Given the description of an element on the screen output the (x, y) to click on. 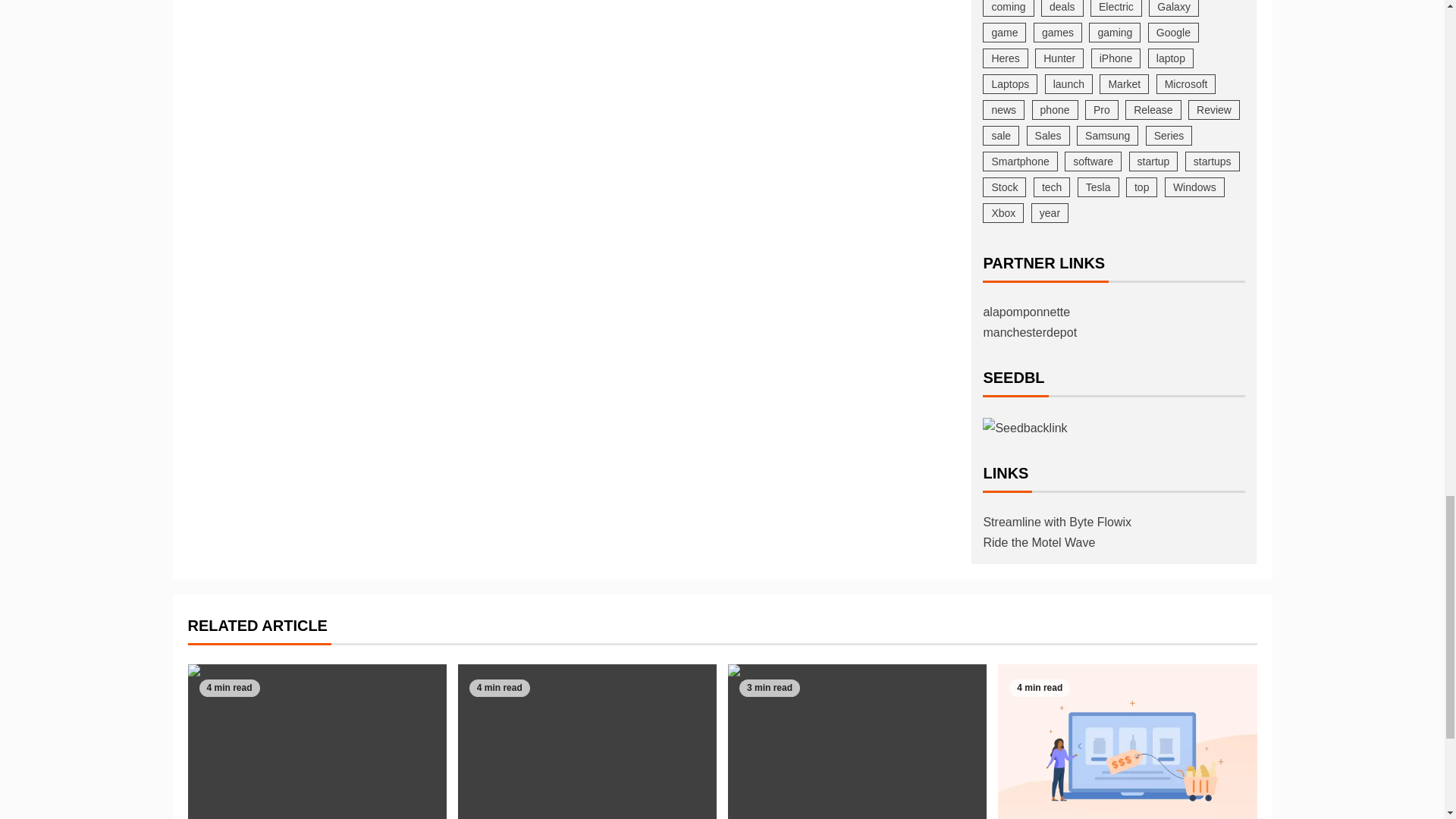
Seedbacklink (1024, 426)
